Given the description of an element on the screen output the (x, y) to click on. 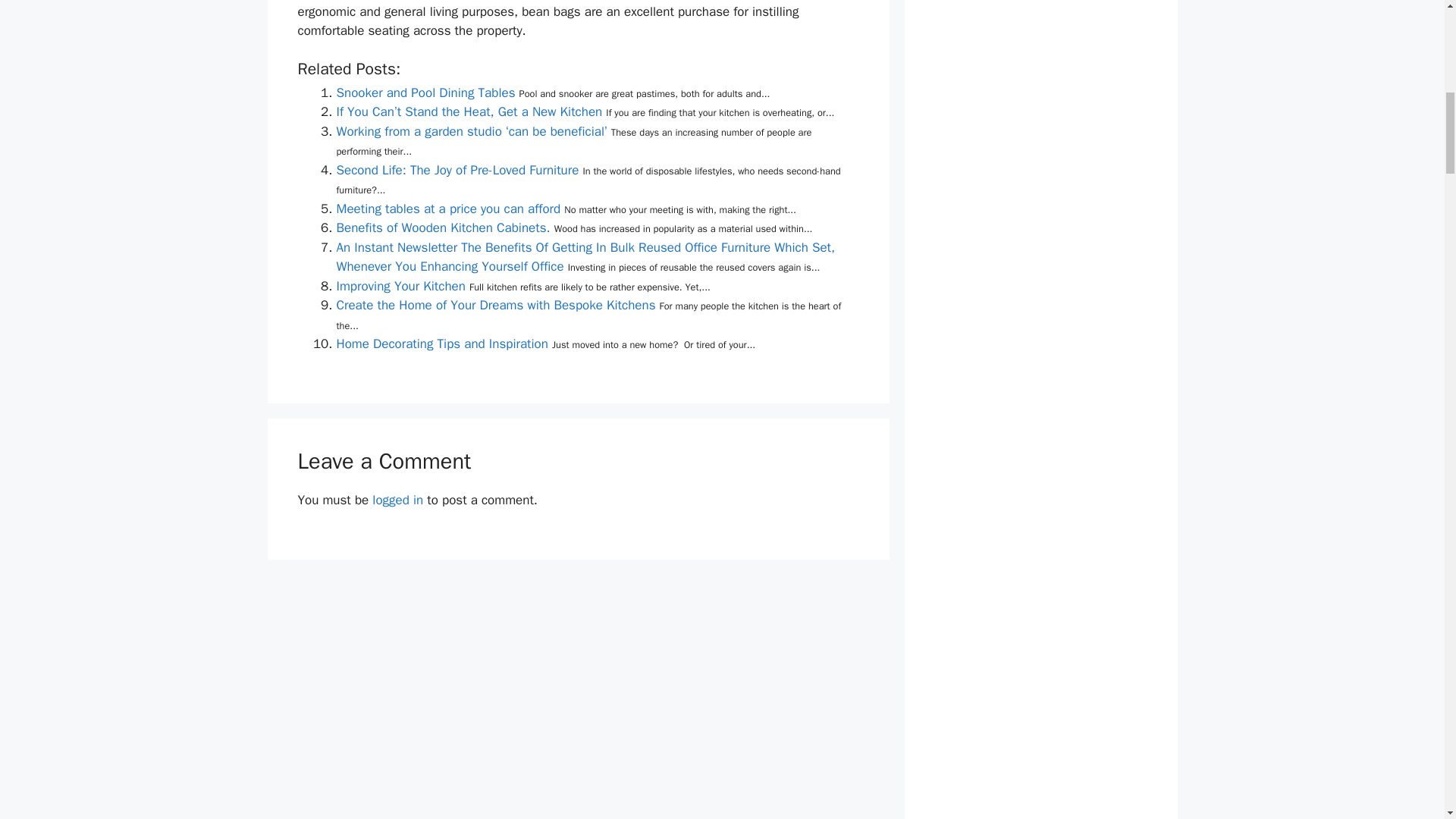
Second Life: The Joy of Pre-Loved Furniture (457, 170)
Improving Your Kitchen (400, 286)
Meeting tables at a price you can afford (448, 208)
Create the Home of Your Dreams with Bespoke Kitchens (496, 304)
Benefits of Wooden Kitchen Cabinets. (443, 227)
Meeting tables at a price you can afford (448, 208)
Benefits of Wooden Kitchen Cabinets. (443, 227)
Home Decorating Tips and Inspiration (442, 343)
Snooker and Pool Dining Tables (425, 92)
Create the Home of Your Dreams with Bespoke Kitchens (496, 304)
Second Life: The Joy of Pre-Loved Furniture (457, 170)
Home Decorating Tips and Inspiration (442, 343)
Improving Your Kitchen (400, 286)
